Given the description of an element on the screen output the (x, y) to click on. 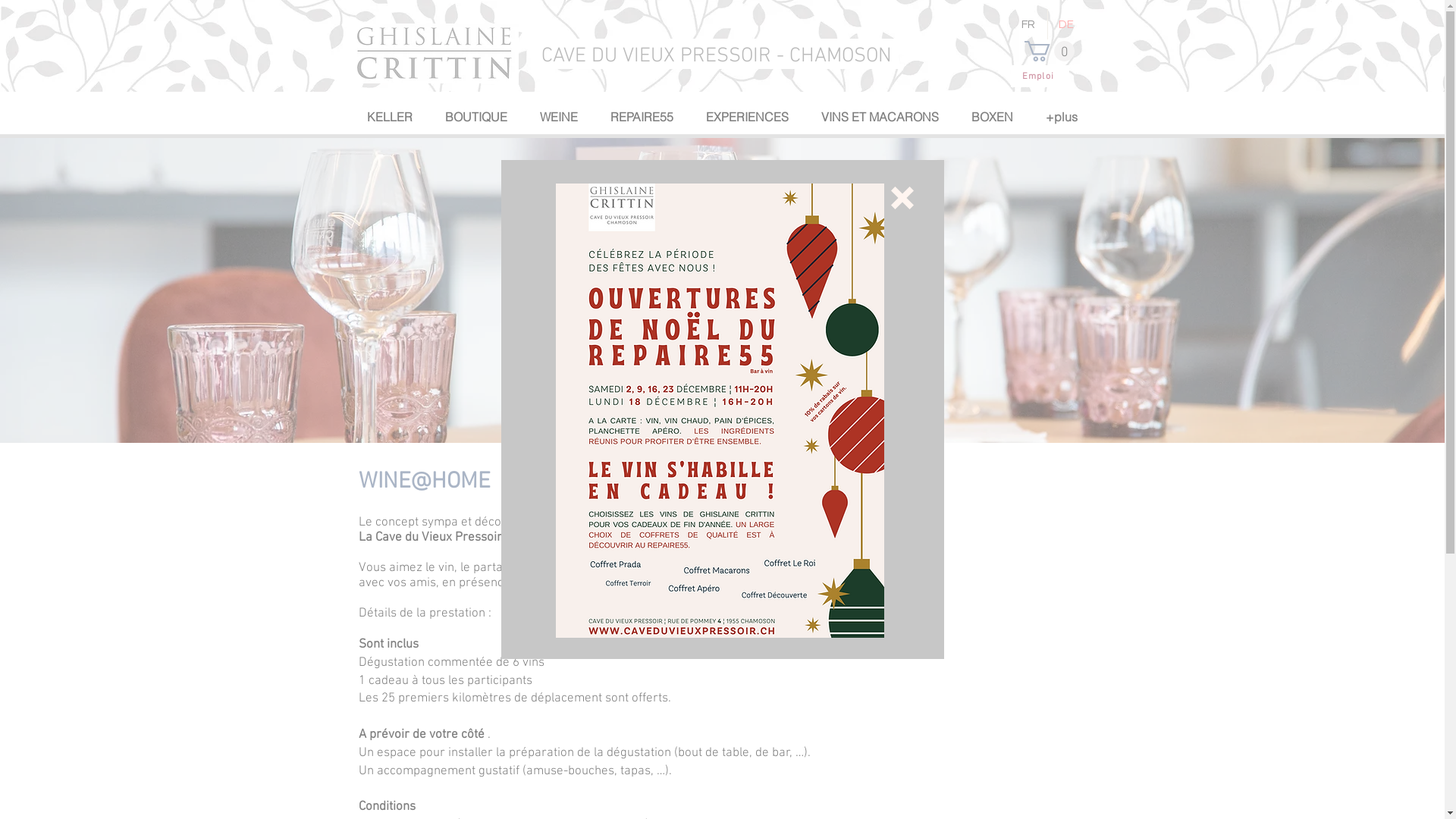
VINS ET MACARONS Element type: text (878, 117)
BOUTIQUE Element type: text (474, 117)
WEINE Element type: text (558, 117)
KELLER Element type: text (388, 117)
DE Element type: text (1066, 24)
BOXEN Element type: text (990, 117)
EXPERIENCES Element type: text (745, 117)
Emploi Element type: text (1039, 76)
FR Element type: text (1028, 24)
CAVE DU VIEUX PRESSOIR - CHAMOSON Element type: text (716, 55)
REPAIRE55 Element type: text (640, 117)
0 Element type: text (1048, 50)
